Given the description of an element on the screen output the (x, y) to click on. 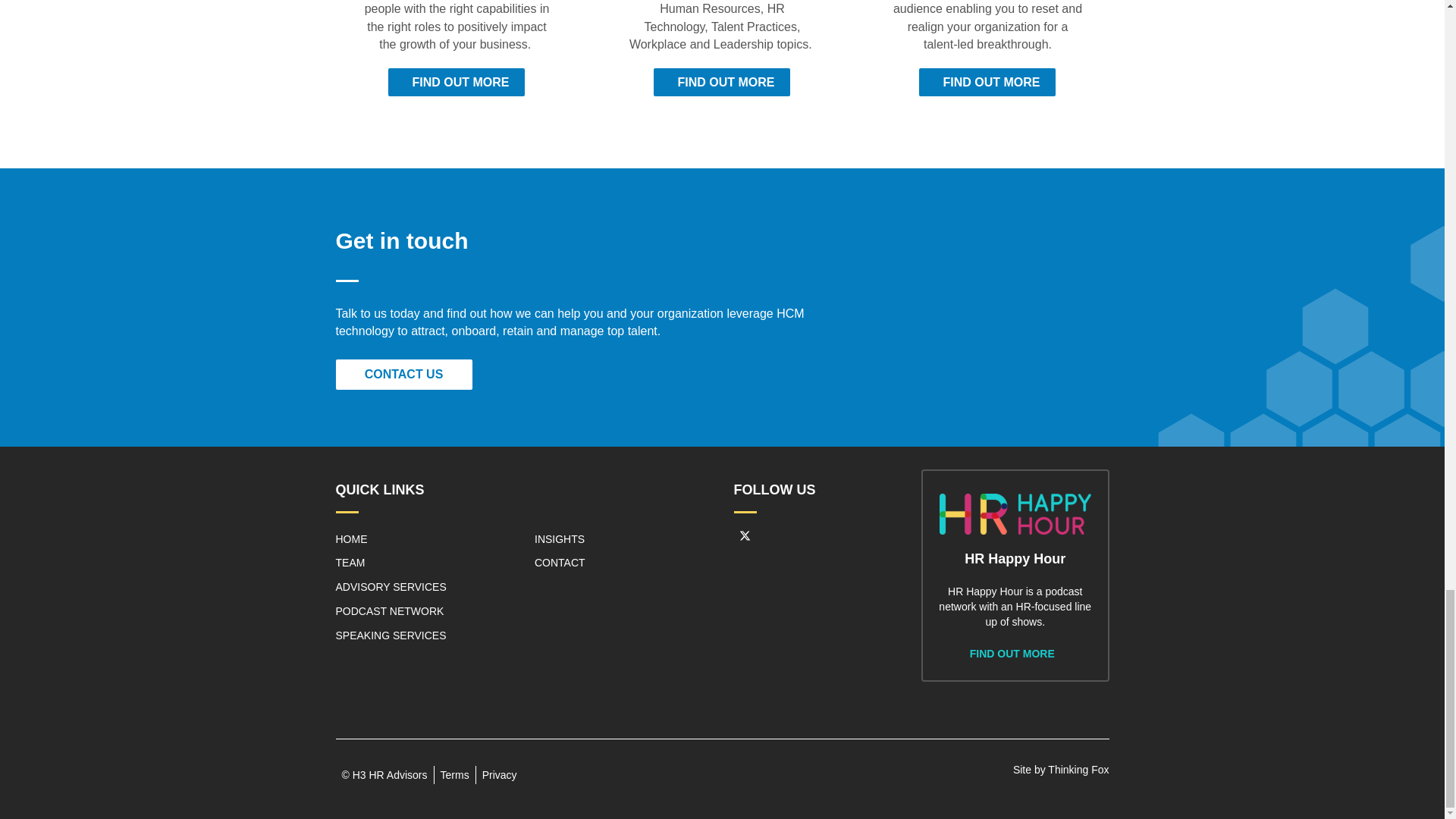
Instagram (805, 535)
LinkedIn (775, 535)
